Given the description of an element on the screen output the (x, y) to click on. 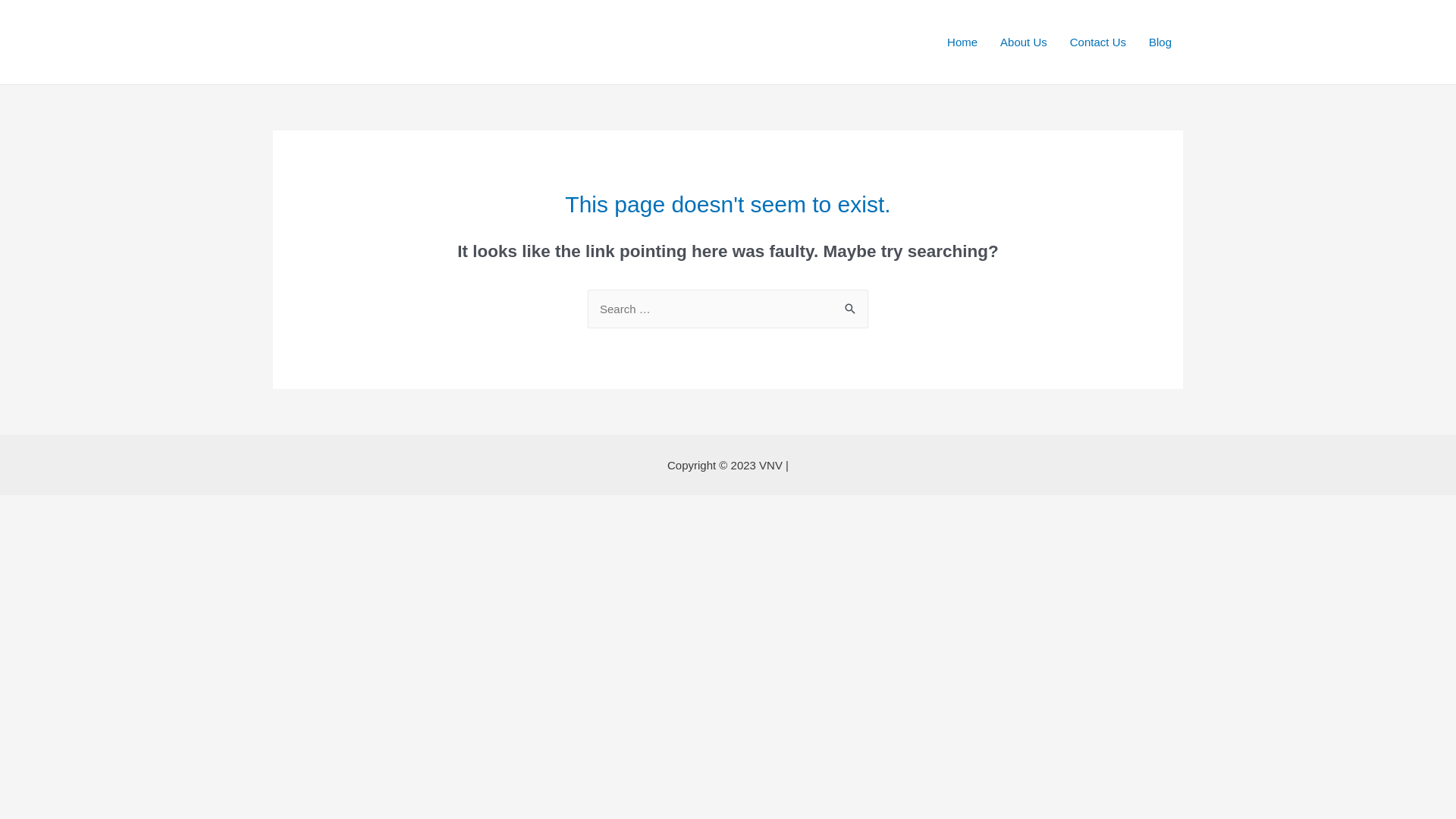
Search Element type: text (851, 304)
Blog Element type: text (1160, 41)
Contact Us Element type: text (1097, 41)
Home Element type: text (961, 41)
About Us Element type: text (1023, 41)
